Given the description of an element on the screen output the (x, y) to click on. 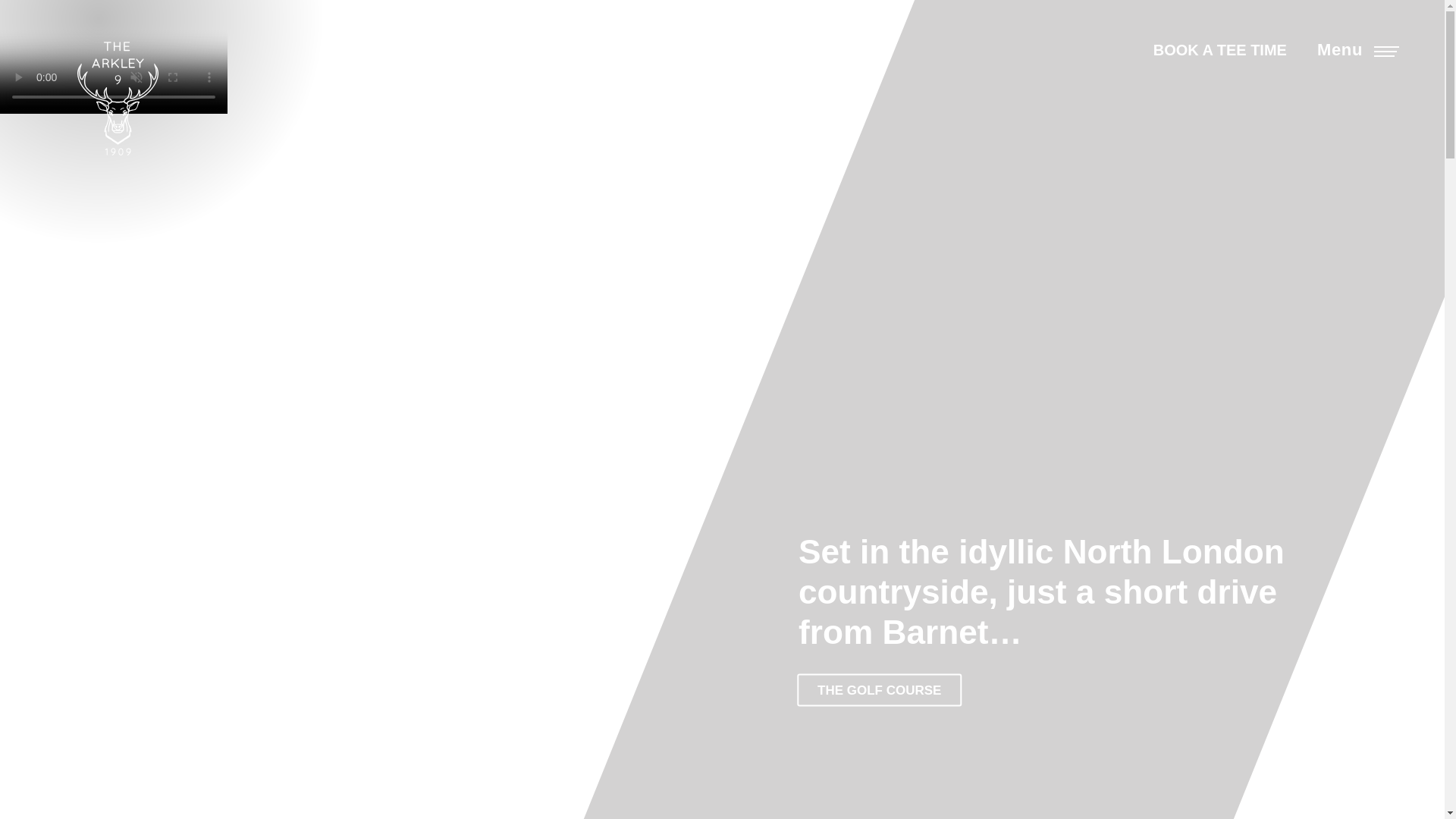
Menu (1355, 49)
THE GOLF COURSE (878, 690)
BOOK A TEE TIME (1220, 49)
The Arkley 9 (116, 98)
